Given the description of an element on the screen output the (x, y) to click on. 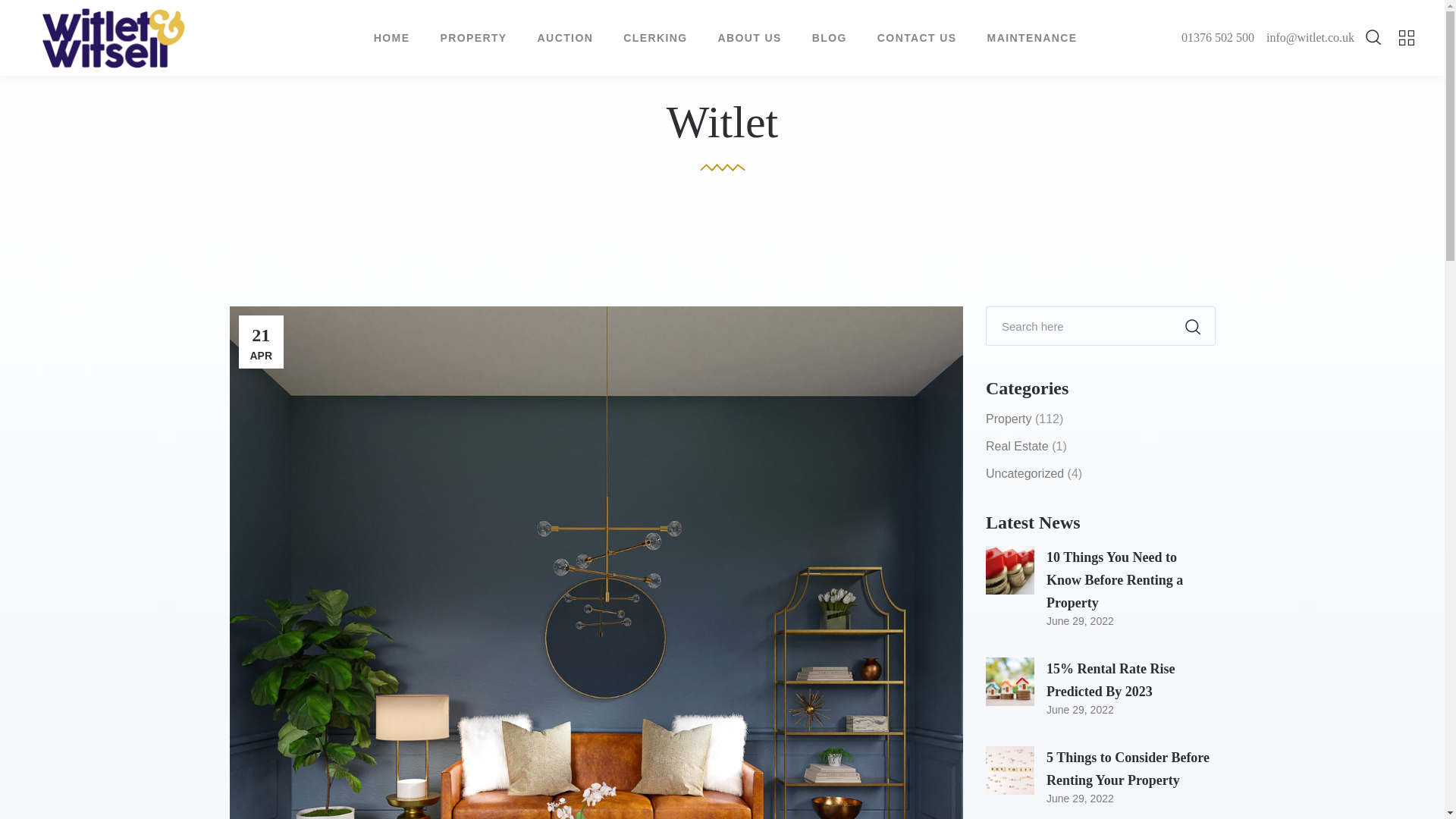
PROPERTY (473, 38)
CLERKING (654, 38)
MAINTENANCE (1032, 38)
5 Things to Consider Before Renting Your Property (1009, 770)
AUCTION (565, 38)
CONTACT US (916, 38)
01376 502 500     (1223, 37)
10 Things You Need to Know Before Renting a Property (1114, 579)
10 Things You Need to Know Before Renting a Property (1009, 570)
ABOUT US (748, 38)
